Given the description of an element on the screen output the (x, y) to click on. 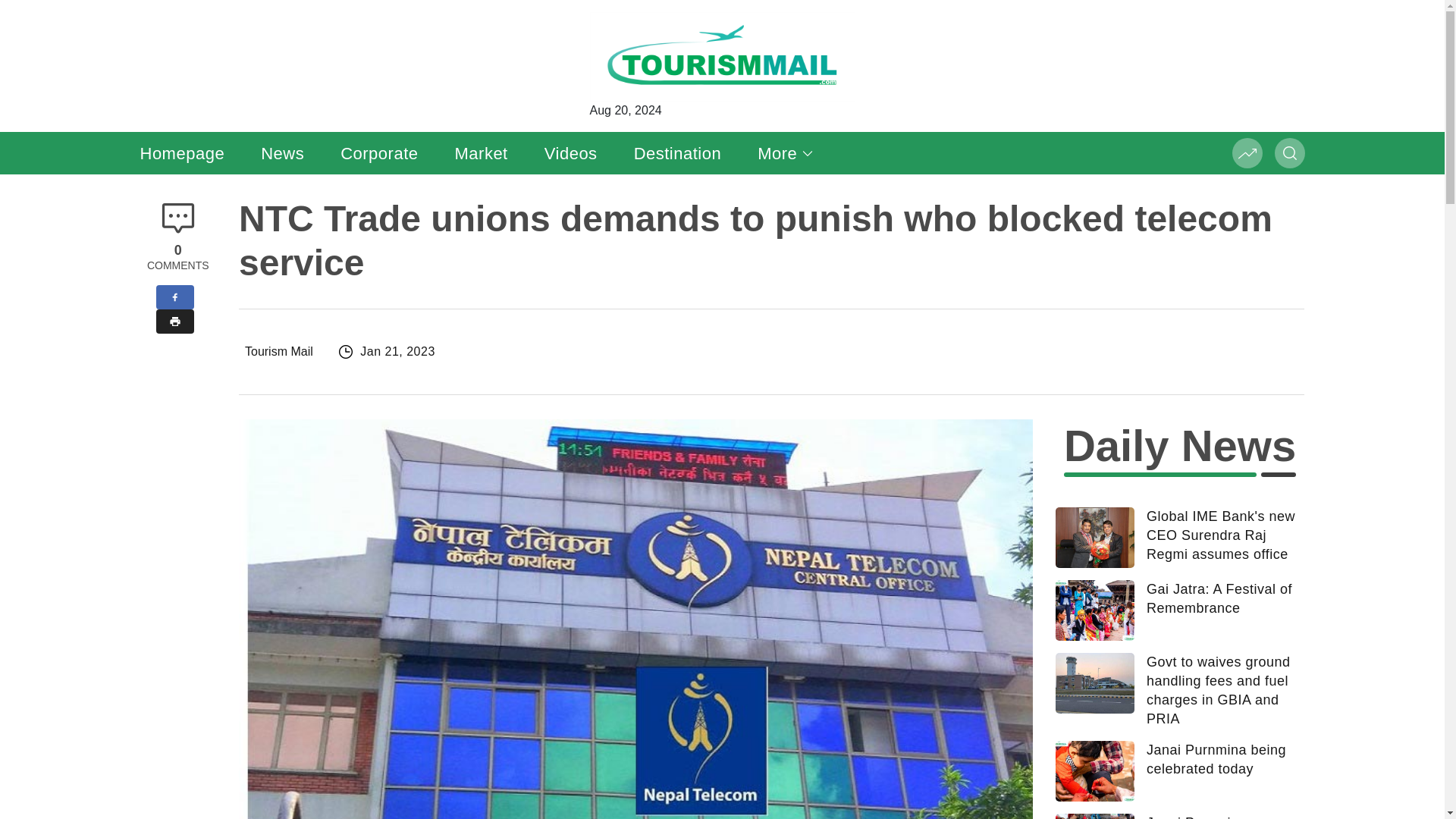
Market (481, 153)
Trending News (1246, 153)
Corporate (378, 153)
Homepage (181, 153)
Videos (570, 153)
More (786, 153)
News (282, 153)
Destination (677, 153)
